Given the description of an element on the screen output the (x, y) to click on. 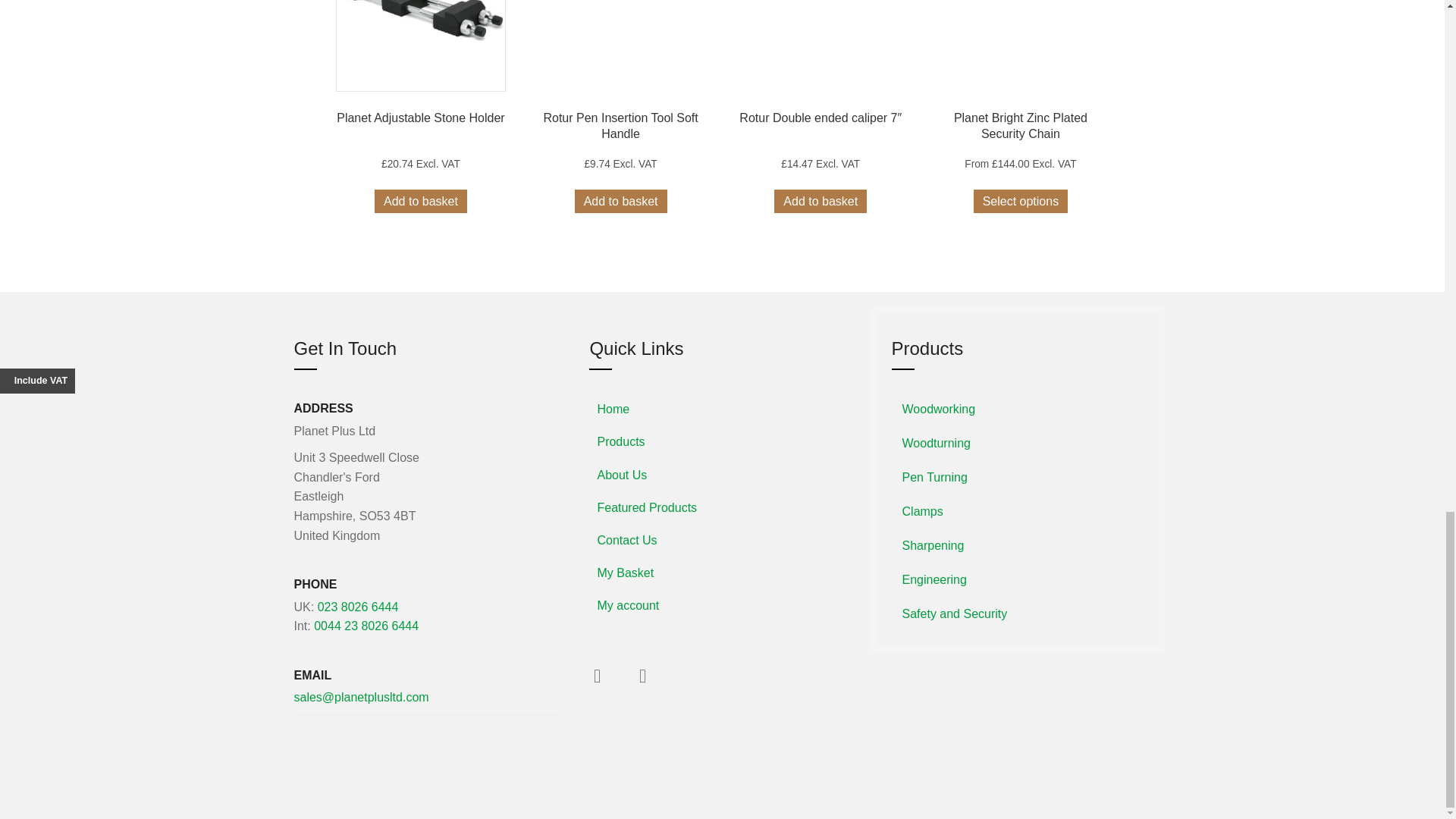
Add to basket (620, 200)
Add to basket (420, 200)
With VAT removed (420, 163)
With VAT removed (619, 163)
With VAT removed (820, 163)
